Given the description of an element on the screen output the (x, y) to click on. 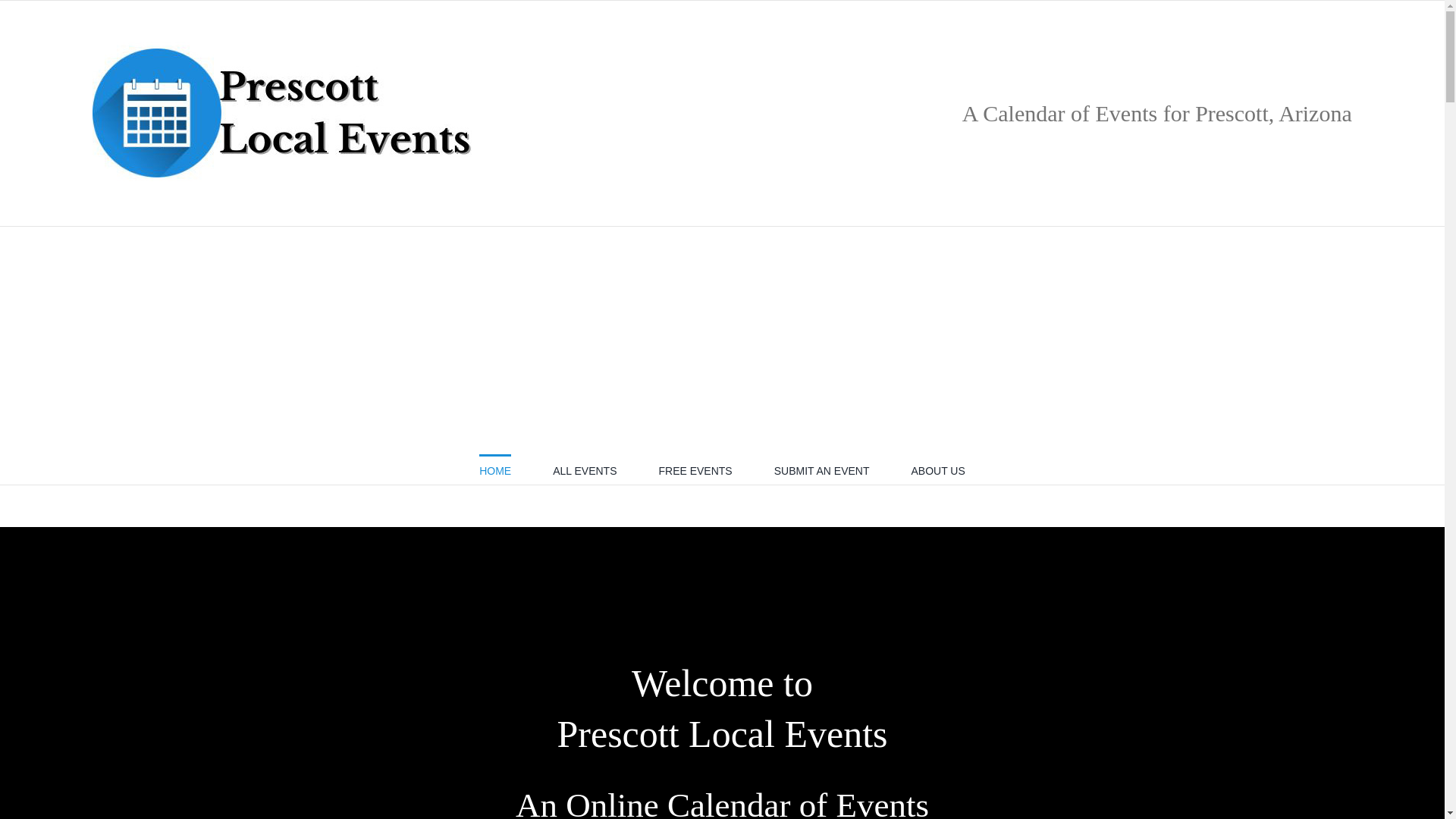
ABOUT US (938, 469)
HOME (495, 469)
ALL EVENTS (584, 469)
FREE EVENTS (695, 469)
SUBMIT AN EVENT (821, 469)
